Given the description of an element on the screen output the (x, y) to click on. 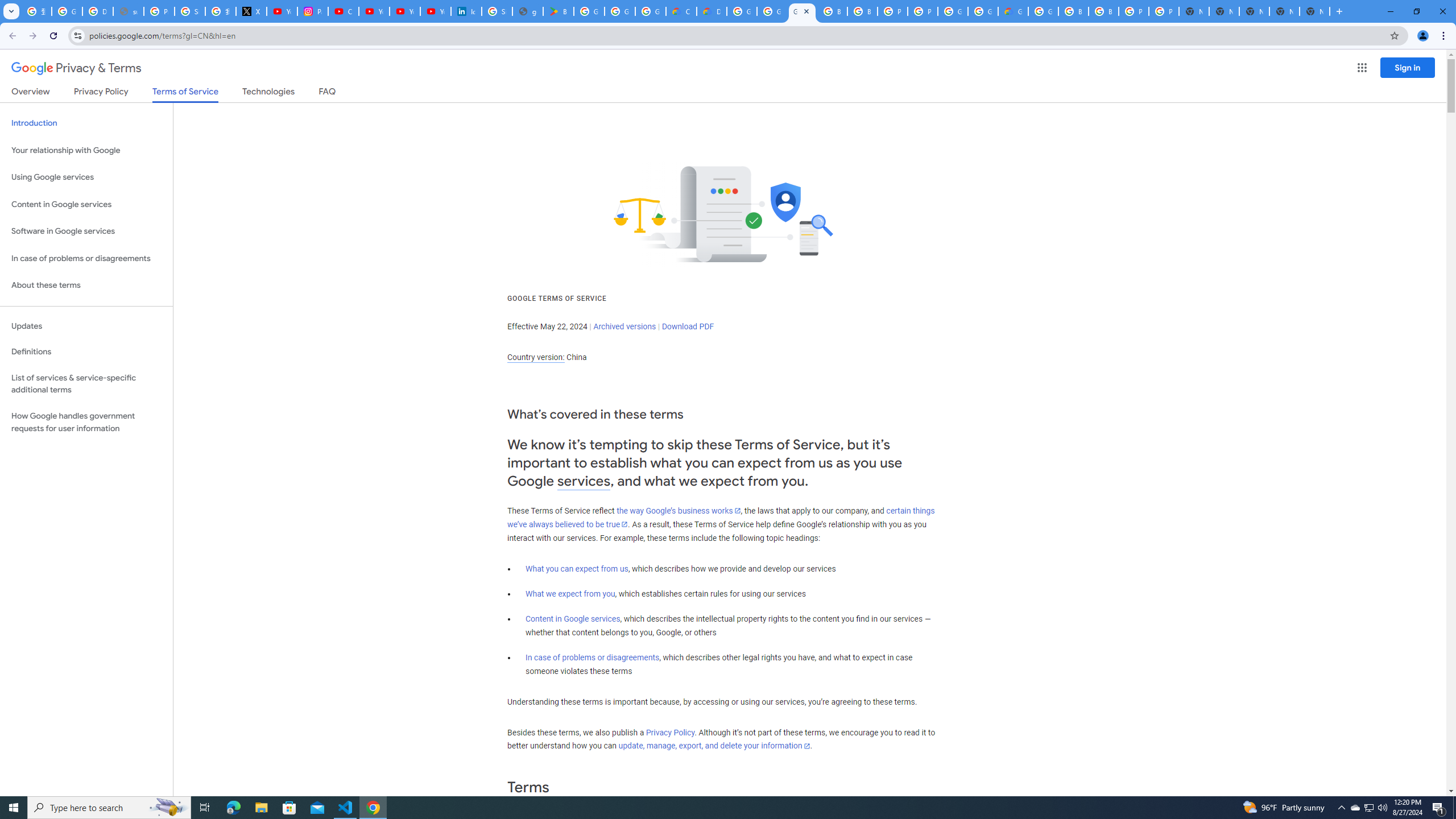
Google Cloud Estimate Summary (1012, 11)
In case of problems or disagreements (592, 657)
YouTube Content Monetization Policies - How YouTube Works (282, 11)
update, manage, export, and delete your information (714, 746)
Definitions (86, 352)
